Given the description of an element on the screen output the (x, y) to click on. 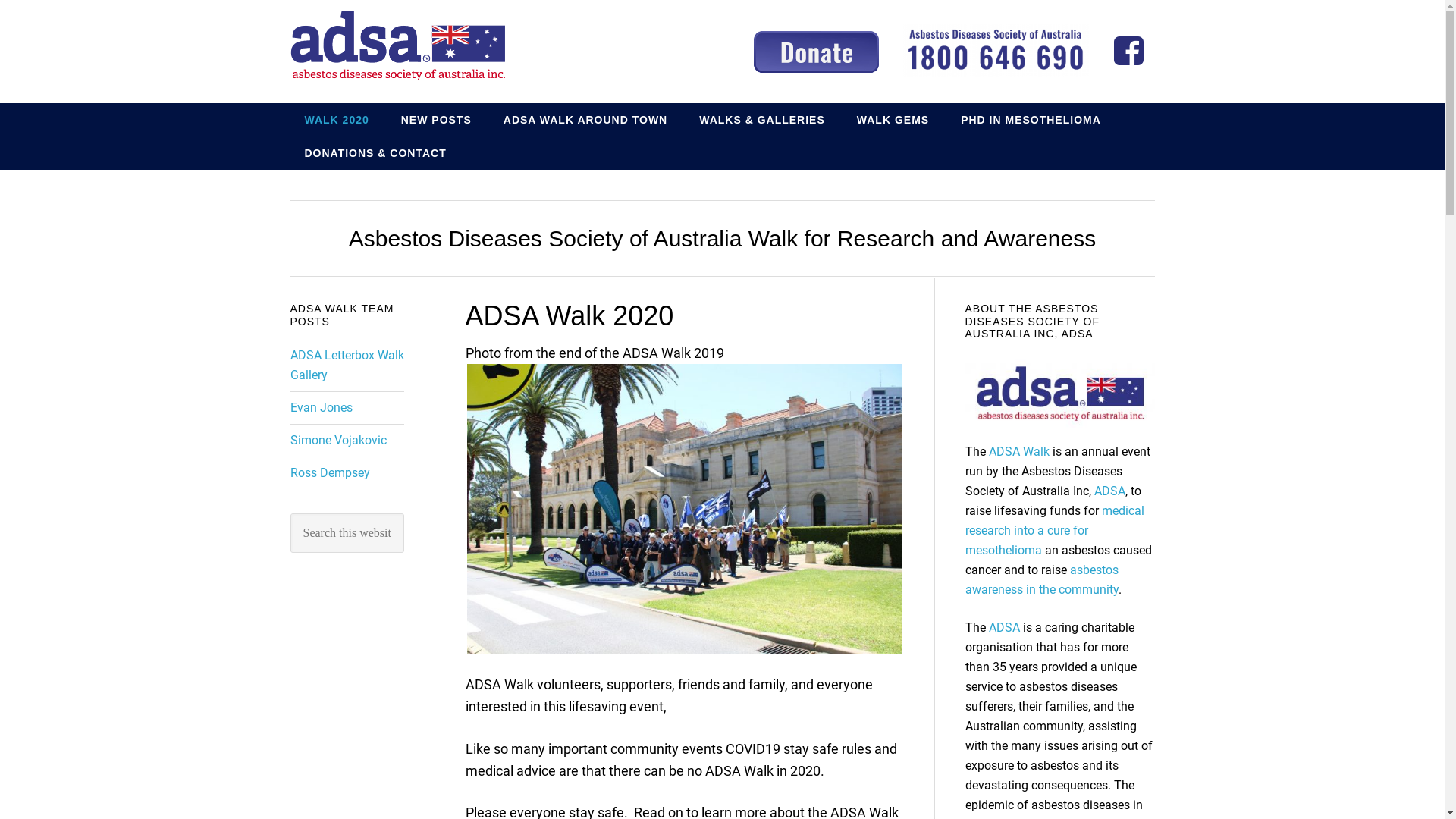
WALK GEMS Element type: text (892, 119)
Simone Vojakovic Element type: text (337, 440)
ADSA Element type: text (1003, 627)
PHD IN MESOTHELIOMA Element type: text (1030, 119)
Search Element type: text (403, 512)
ADSA Letterbox Walk Gallery Element type: text (346, 365)
WALKS & GALLERIES Element type: text (761, 119)
WALK 2020 Element type: text (335, 119)
NEW POSTS Element type: text (436, 119)
Skip to primary navigation Element type: text (0, 0)
Evan Jones Element type: text (320, 407)
DONATIONS & CONTACT Element type: text (374, 152)
ADSA Element type: text (1108, 490)
ADSA Walk Element type: text (1018, 451)
medical research into a cure for mesothelioma Element type: text (1053, 530)
Ross Dempsey Element type: text (329, 472)
ADSA WALK AROUND TOWN Element type: text (585, 119)
asbestos awareness in the community Element type: text (1040, 579)
